Given the description of an element on the screen output the (x, y) to click on. 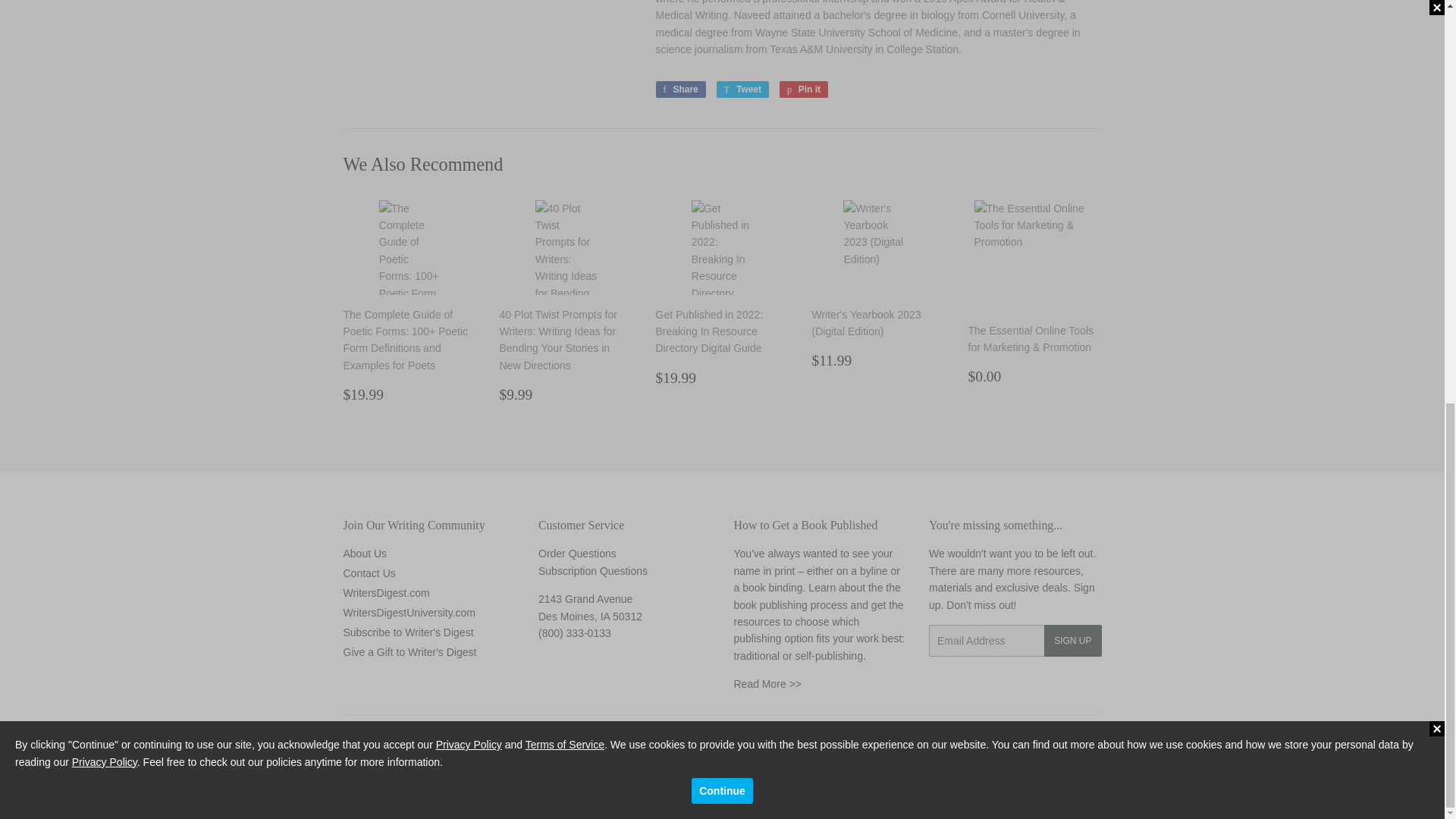
Share on Facebook (679, 89)
Mastercard (1046, 794)
Visa (1085, 794)
Customer Service (574, 633)
Discover (1005, 794)
American Express (966, 794)
Contact Us (576, 553)
Pin on Pinterest (803, 89)
Tweet on Twitter (742, 89)
Magazine Self Service (592, 571)
